Given the description of an element on the screen output the (x, y) to click on. 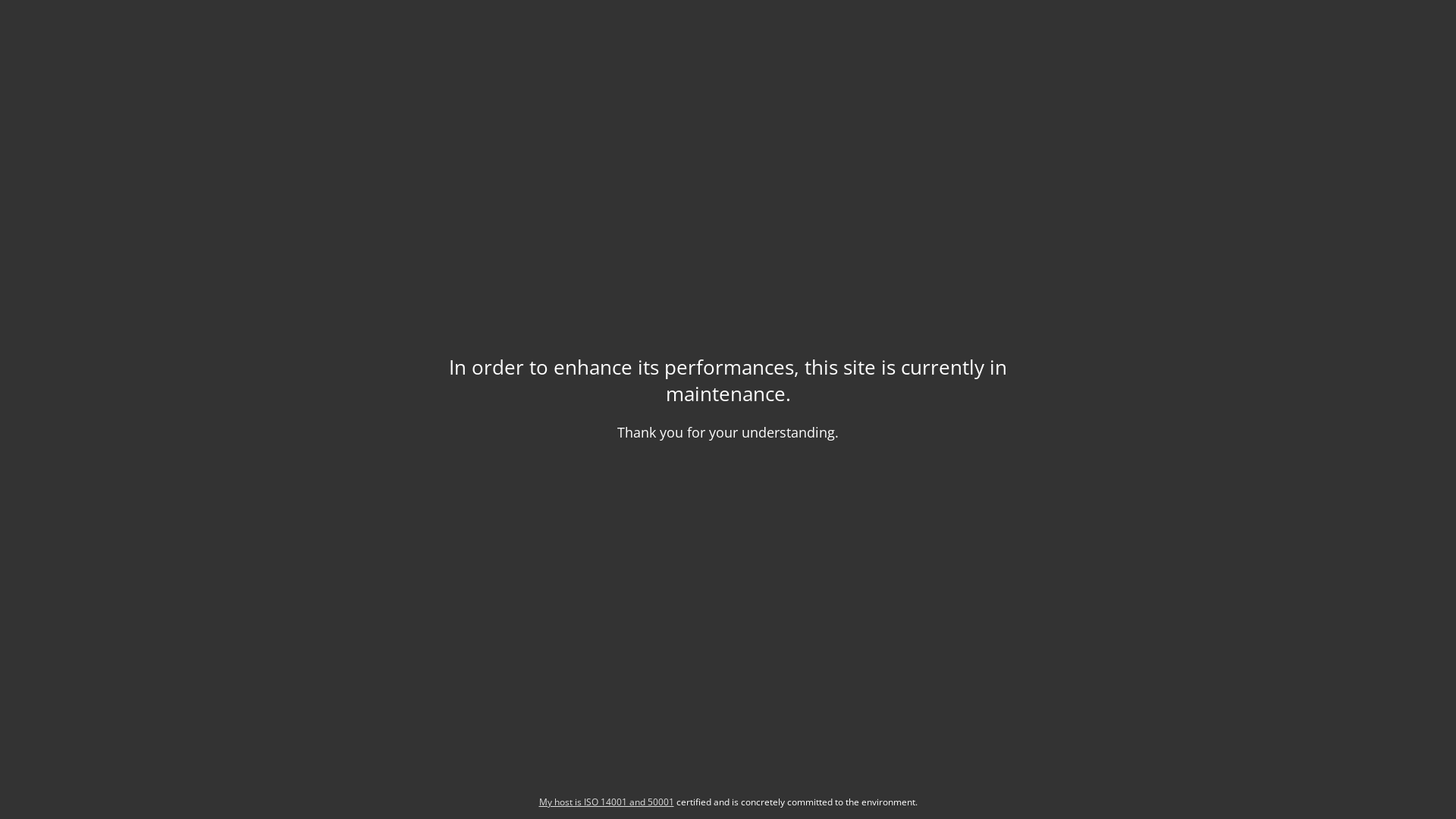
My host is ISO 14001 and 50001 Element type: text (605, 801)
